Given the description of an element on the screen output the (x, y) to click on. 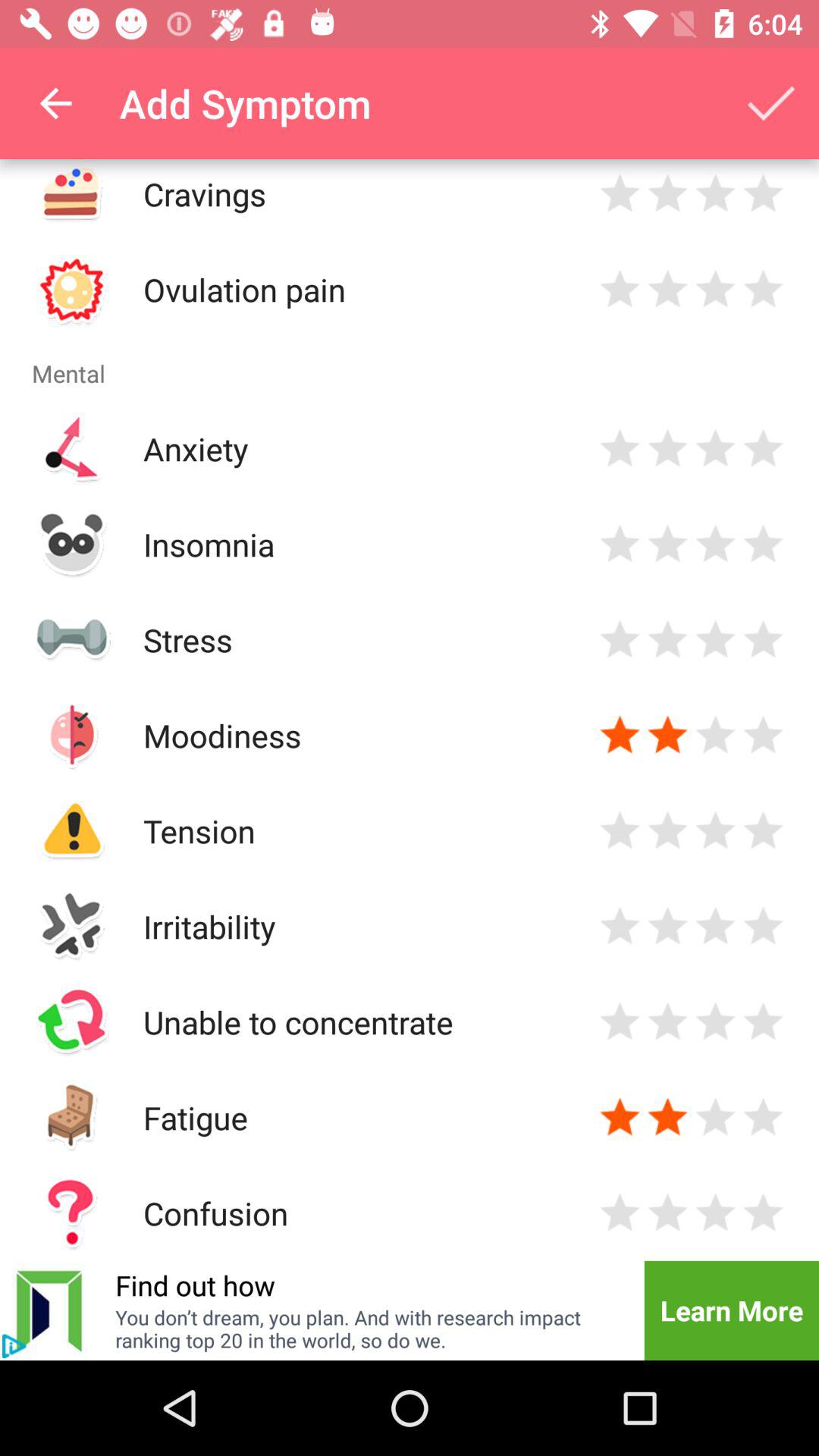
star selected (667, 735)
